Given the description of an element on the screen output the (x, y) to click on. 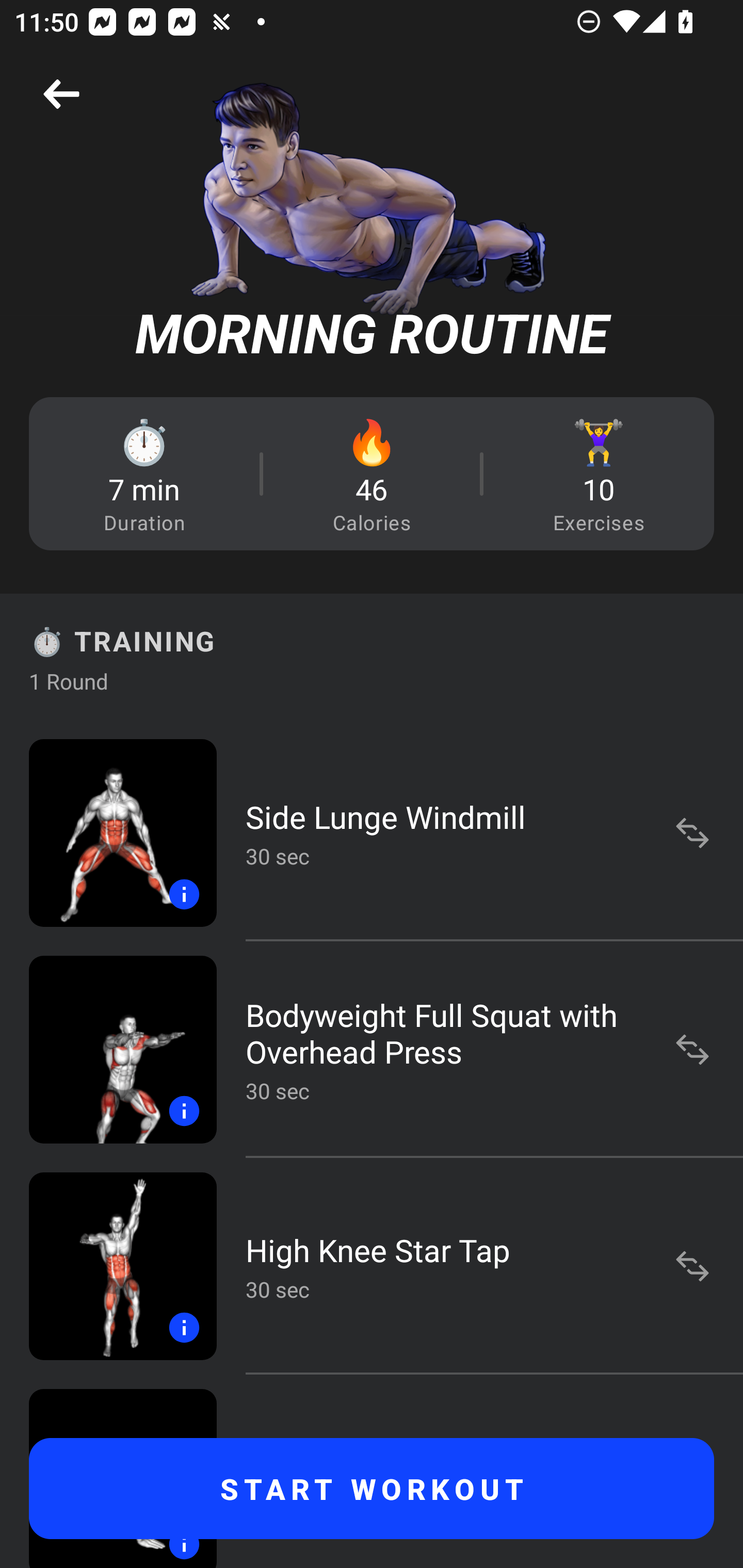
Side Lunge Windmill 30 sec (371, 832)
Bodyweight Full Squat with Overhead Press 30 sec (371, 1048)
High Knee Star Tap 30 sec (371, 1266)
START WORKOUT (371, 1488)
